Given the description of an element on the screen output the (x, y) to click on. 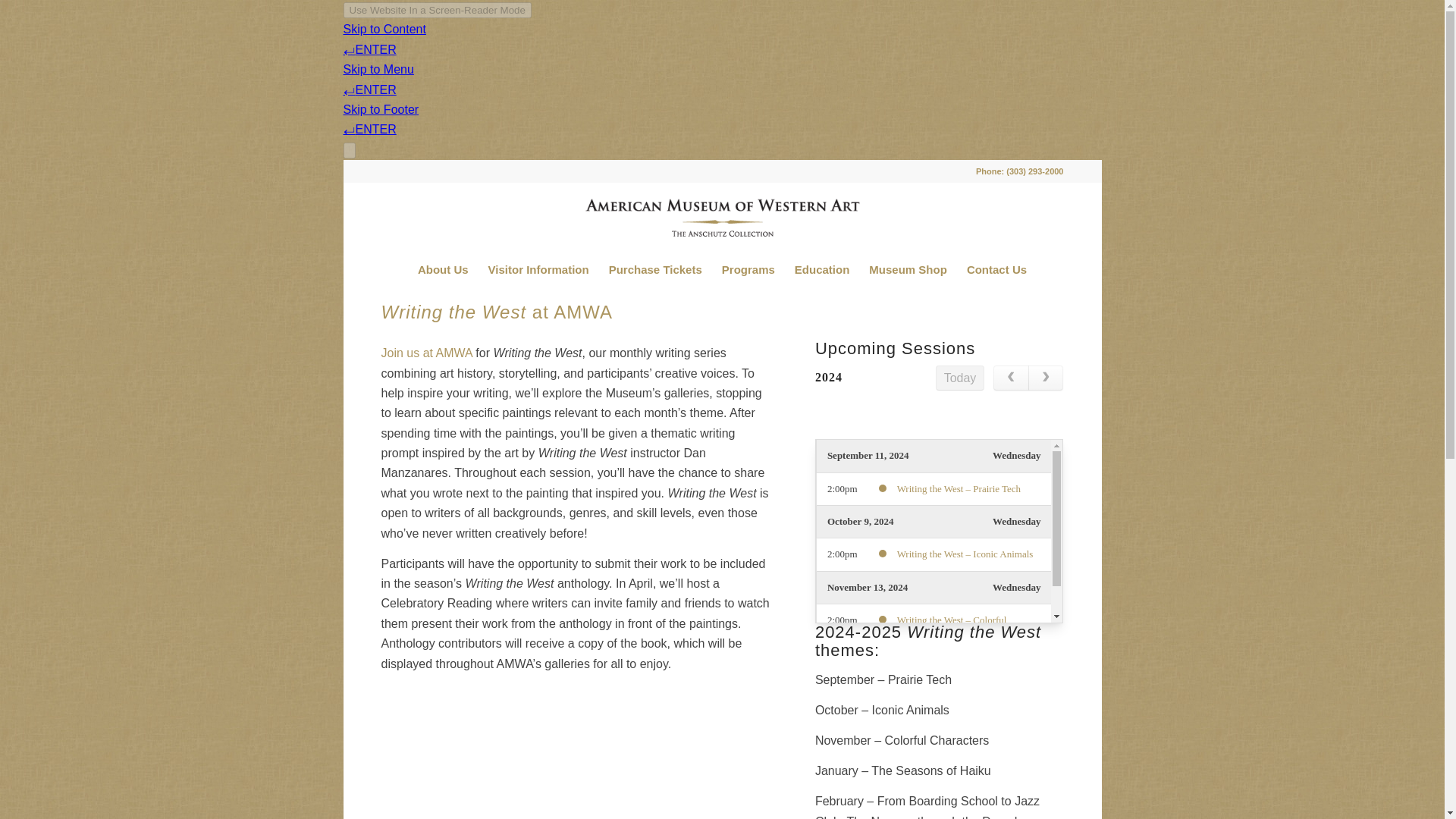
Join us at AMWA (425, 352)
Purchase Tickets (654, 269)
About Us (443, 269)
Visitor Information (538, 269)
